Given the description of an element on the screen output the (x, y) to click on. 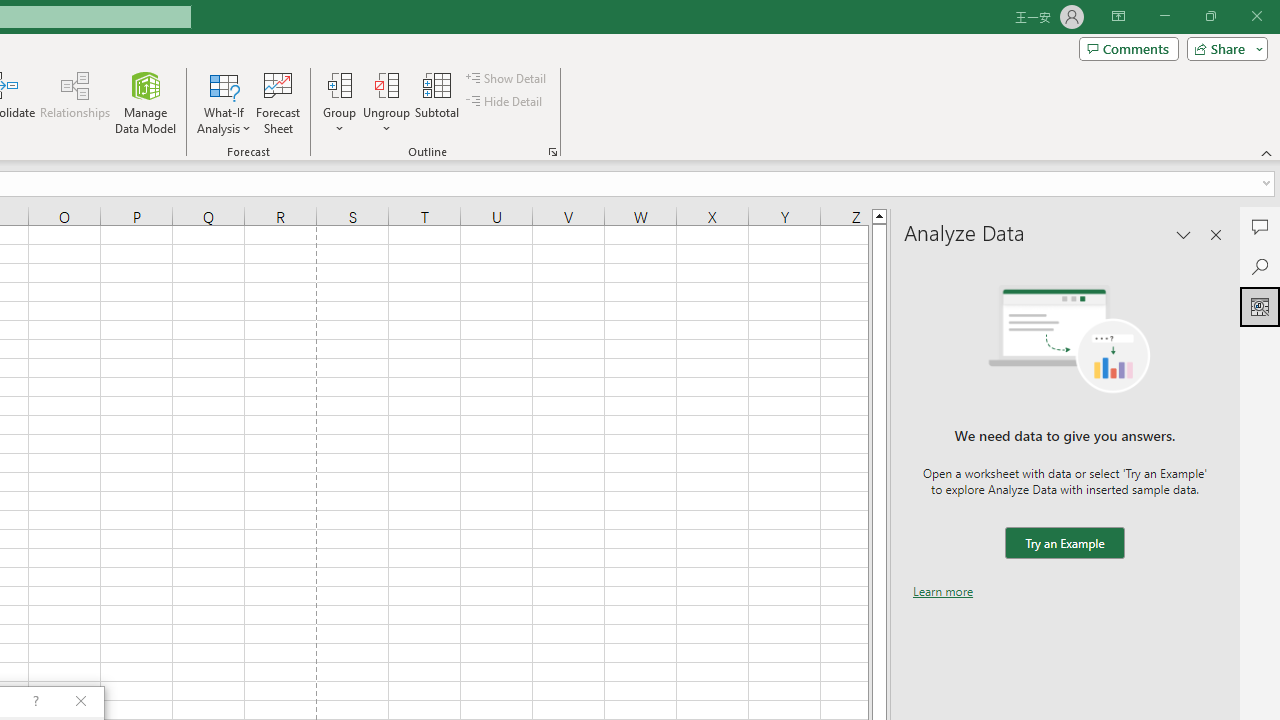
Ungroup... (386, 102)
Learn more (943, 591)
Line up (879, 215)
Show Detail (507, 78)
Group... (339, 84)
Task Pane Options (1183, 234)
Share (1223, 48)
Minimize (1164, 16)
Collapse the Ribbon (1267, 152)
Analyze Data (1260, 306)
What-If Analysis (223, 102)
Group and Outline Settings (552, 151)
Forecast Sheet (278, 102)
Search (1260, 266)
